Given the description of an element on the screen output the (x, y) to click on. 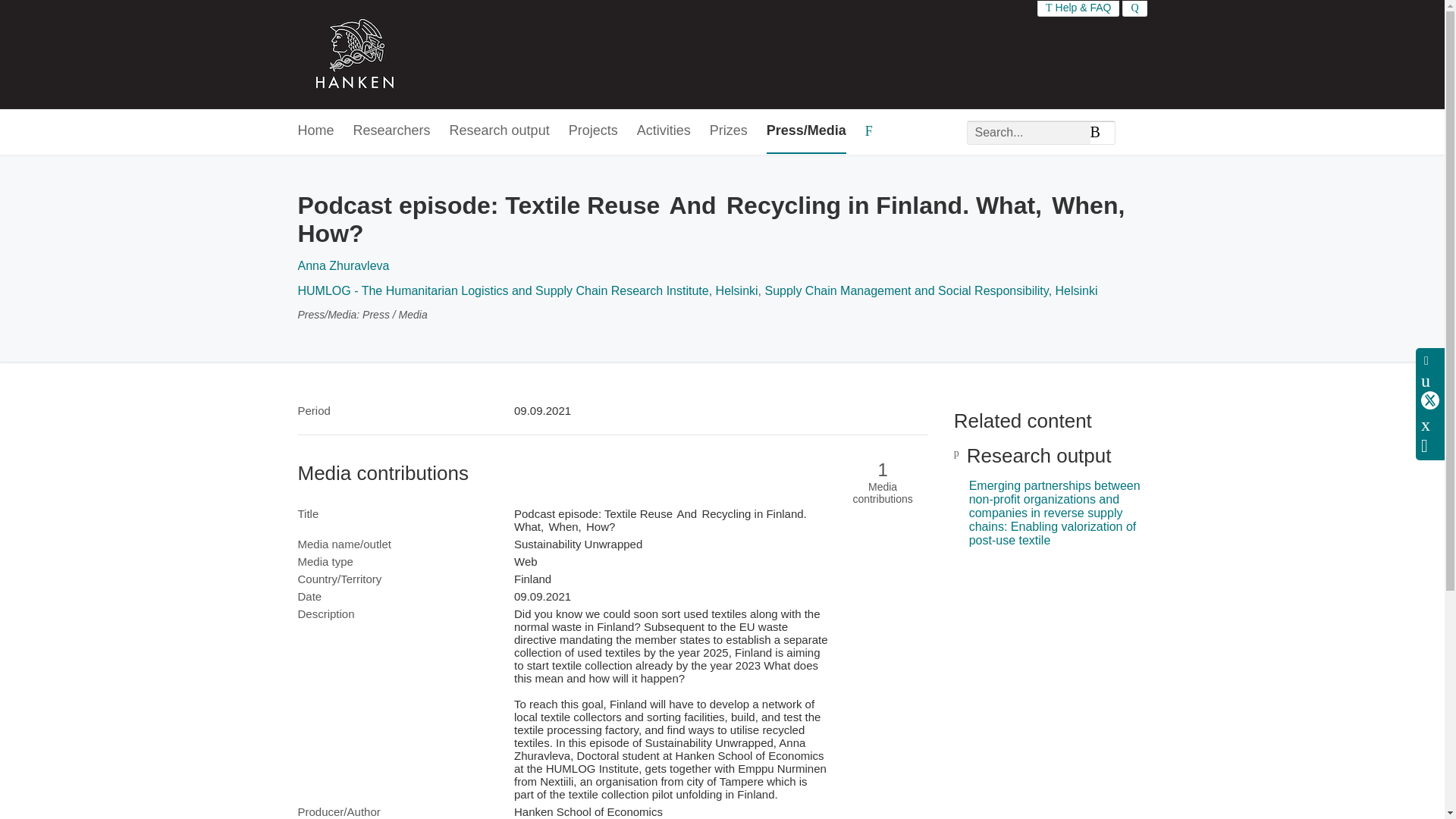
Activities (663, 130)
Projects (593, 130)
Research output (499, 130)
X (1430, 400)
Researchers (391, 130)
Supply Chain Management and Social Responsibility, Helsinki (930, 290)
Anna Zhuravleva (342, 265)
